Given the description of an element on the screen output the (x, y) to click on. 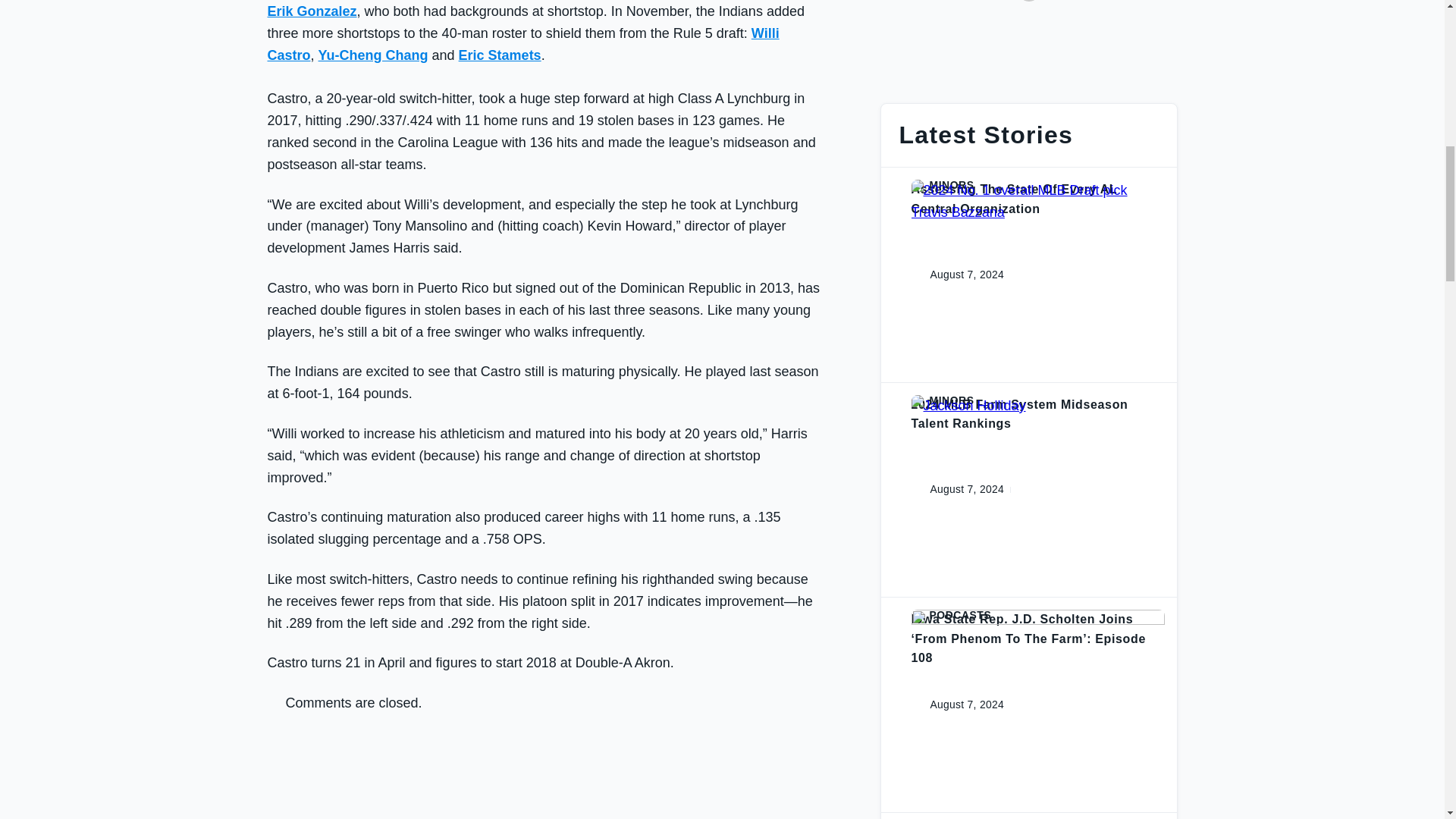
Post date (954, 704)
Post category (1037, 184)
Post category (1037, 614)
Post date (954, 274)
Post category (1037, 400)
Post date (954, 489)
